Given the description of an element on the screen output the (x, y) to click on. 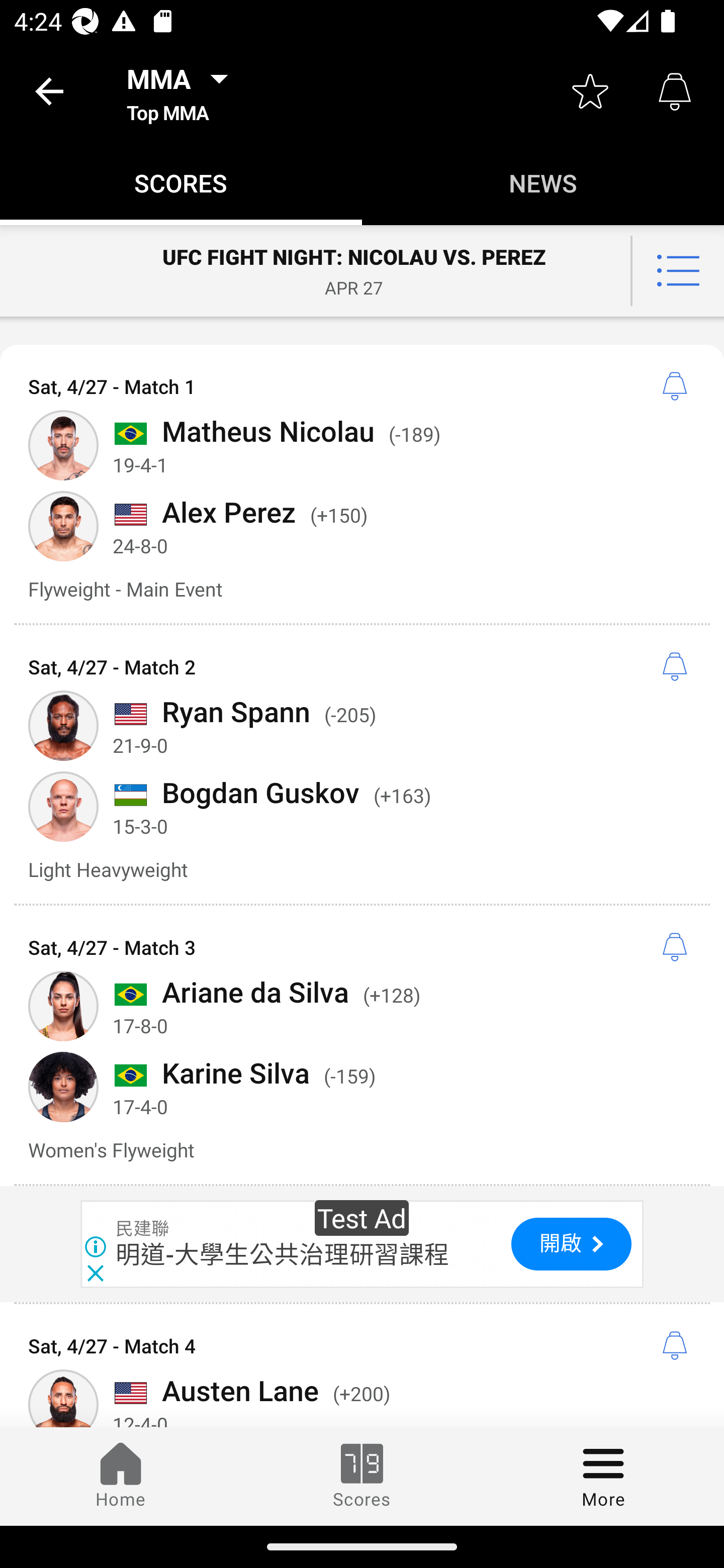
MMA Top MMA (183, 90)
Favorite toggle (590, 90)
Alerts (674, 90)
News NEWS (543, 183)
UFC FIGHT NIGHT: NICOLAU VS. PEREZ APR 27 ^ (362, 270)
í (674, 386)
í (674, 667)
í (674, 947)
民建聯 (142, 1229)
開啟 (570, 1244)
明道-大學生公共治理研習課程 (282, 1254)
Sat, 4/27 - Match 4 í Austen Lane (+200) 12-4-0 (362, 1365)
í (674, 1345)
Home (120, 1475)
Scores (361, 1475)
